Given the description of an element on the screen output the (x, y) to click on. 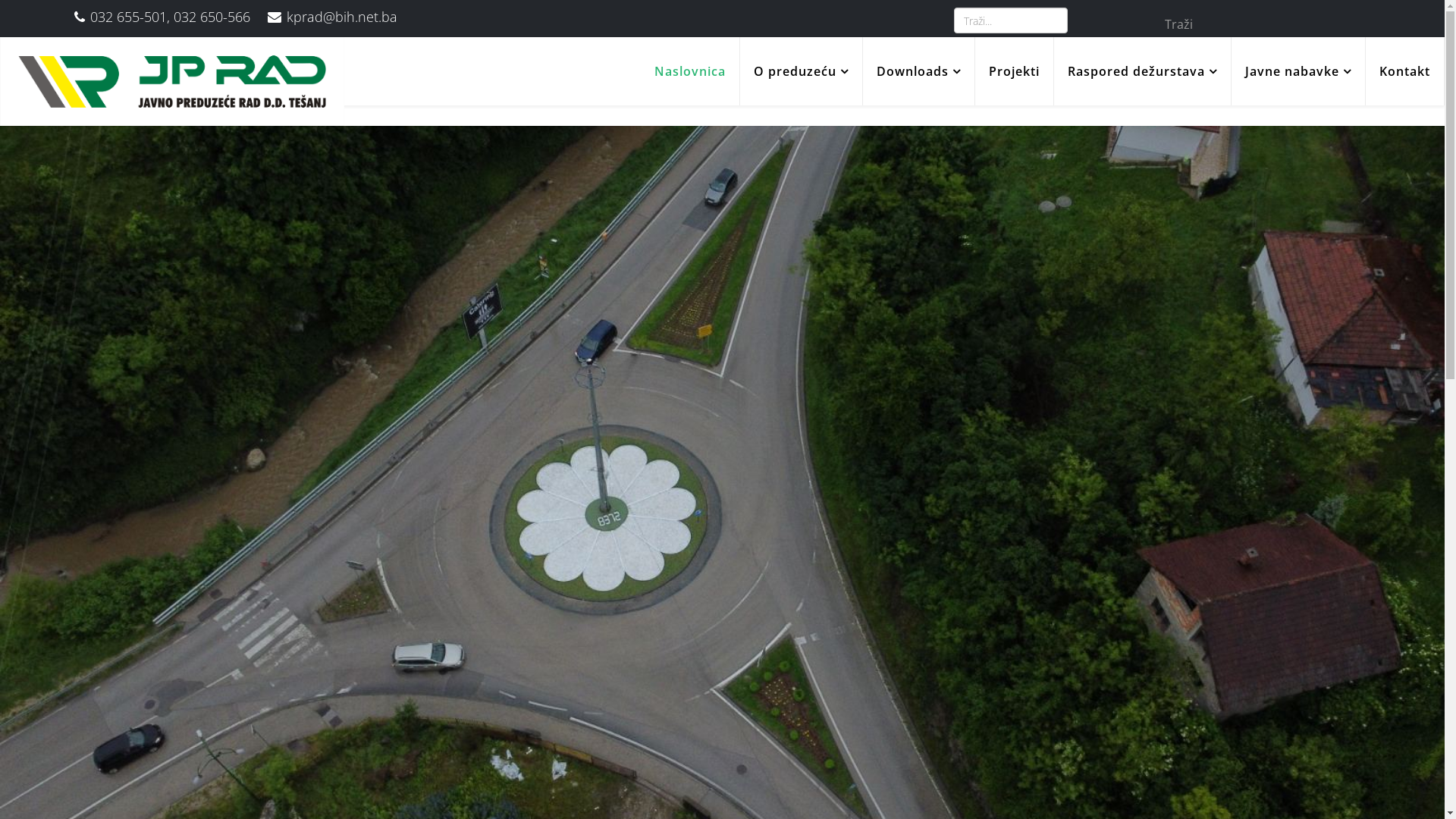
kprad@bih.net.ba Element type: text (341, 16)
Projekti Element type: text (1014, 71)
Downloads Element type: text (918, 71)
Naslovnica Element type: text (689, 71)
Kontakt Element type: text (1404, 71)
Javne nabavke Element type: text (1298, 71)
032 655-501, 032 650-566 Element type: text (170, 16)
